Given the description of an element on the screen output the (x, y) to click on. 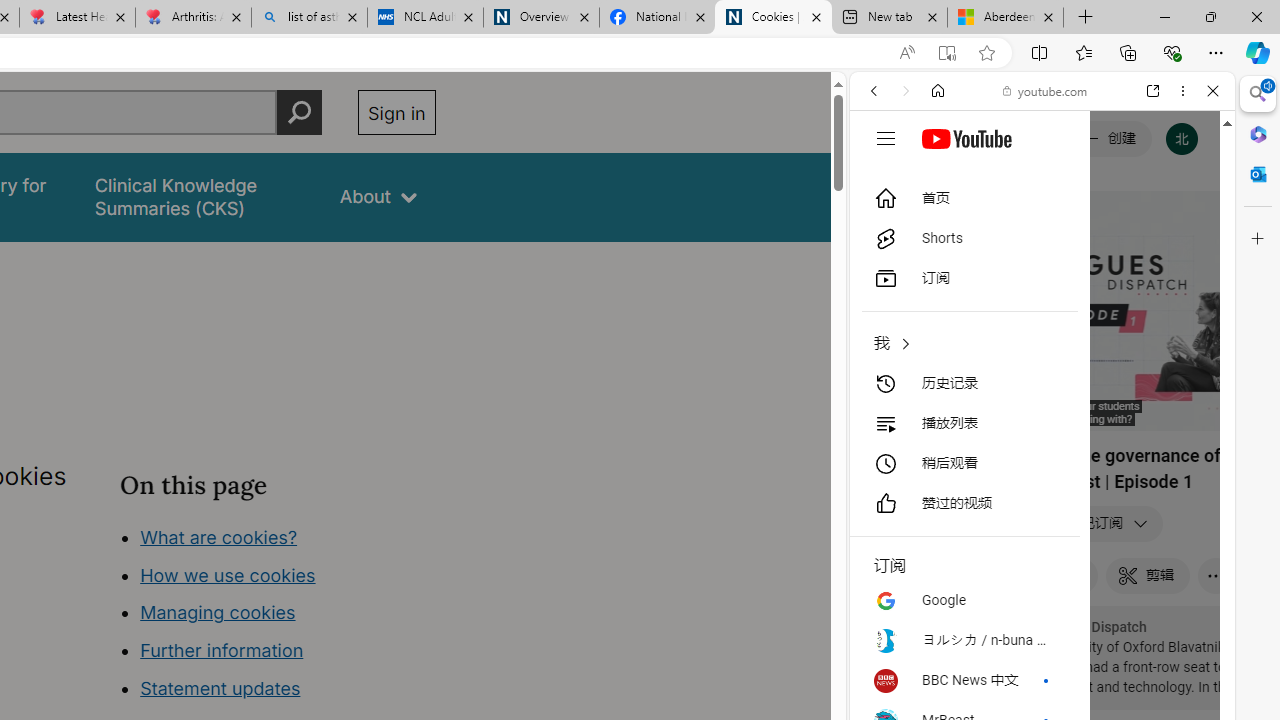
false (198, 196)
Enter Immersive Reader (F9) (946, 53)
Search Filter, VIDEOS (1006, 228)
